Given the description of an element on the screen output the (x, y) to click on. 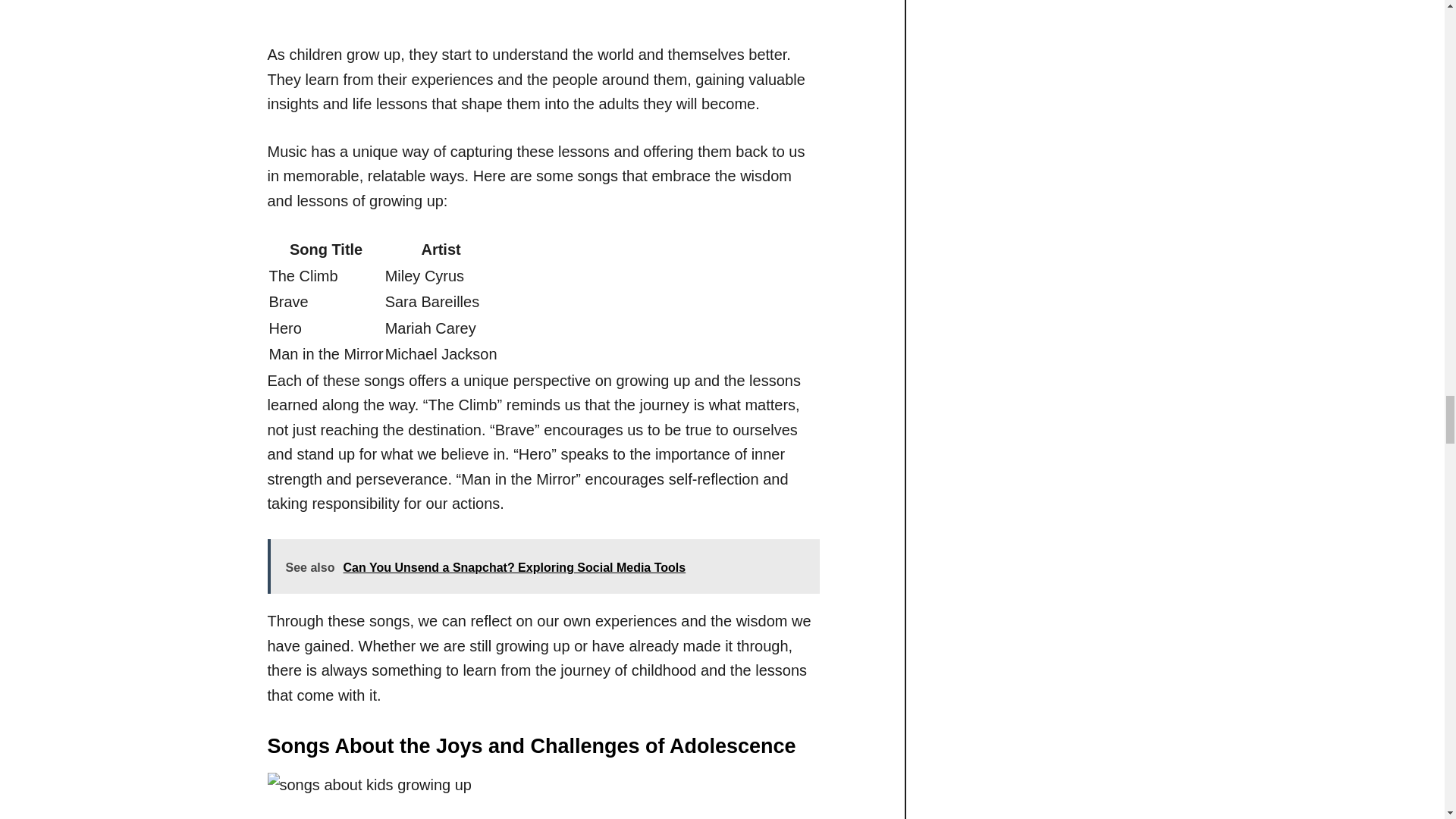
songs about kids growing up (721, 796)
Songs about kids growing up (721, 9)
